Given the description of an element on the screen output the (x, y) to click on. 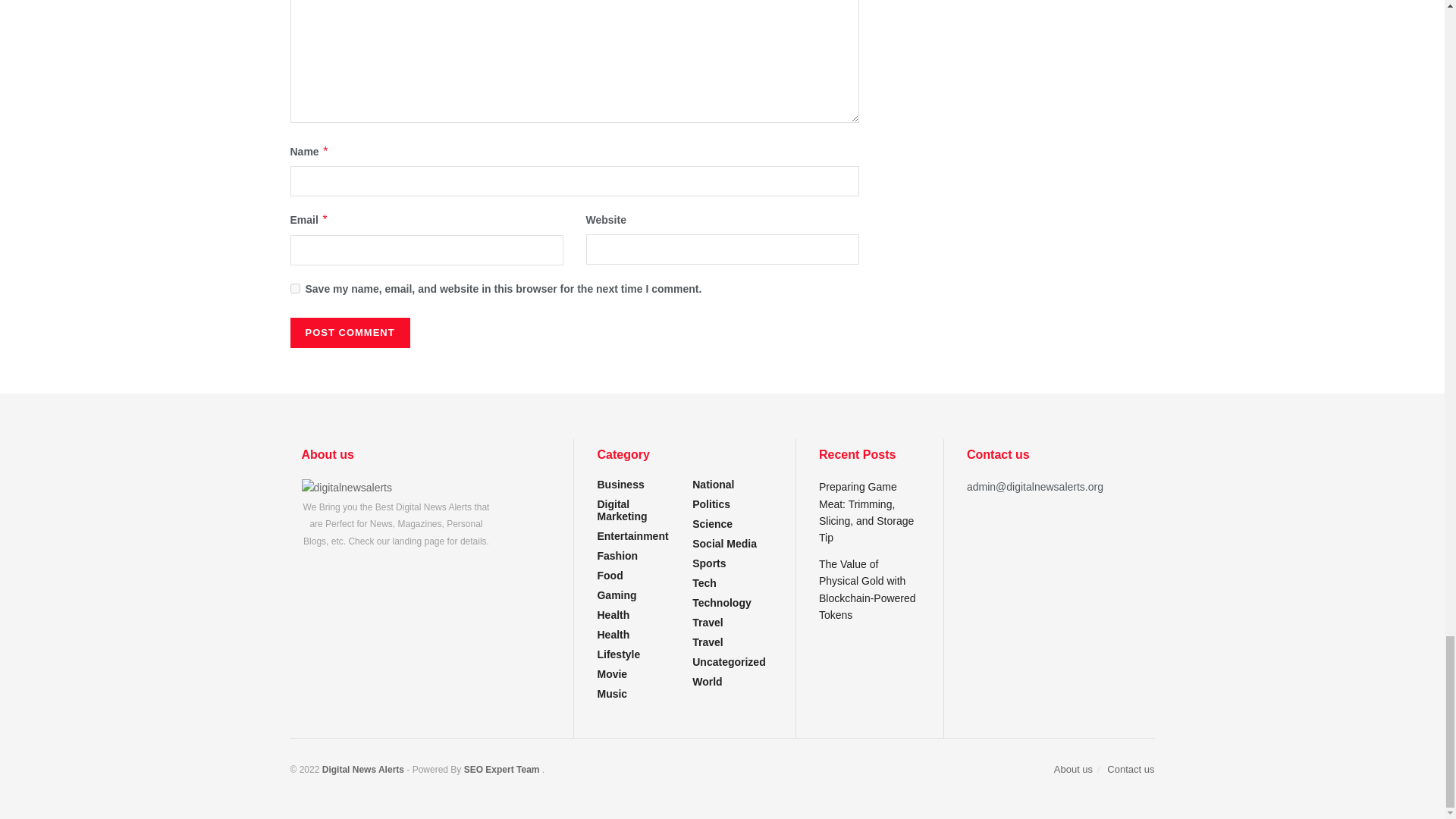
Digital News Alerts (364, 769)
About us (347, 487)
yes (294, 288)
Post Comment (349, 332)
Umair Ali (501, 769)
